Given the description of an element on the screen output the (x, y) to click on. 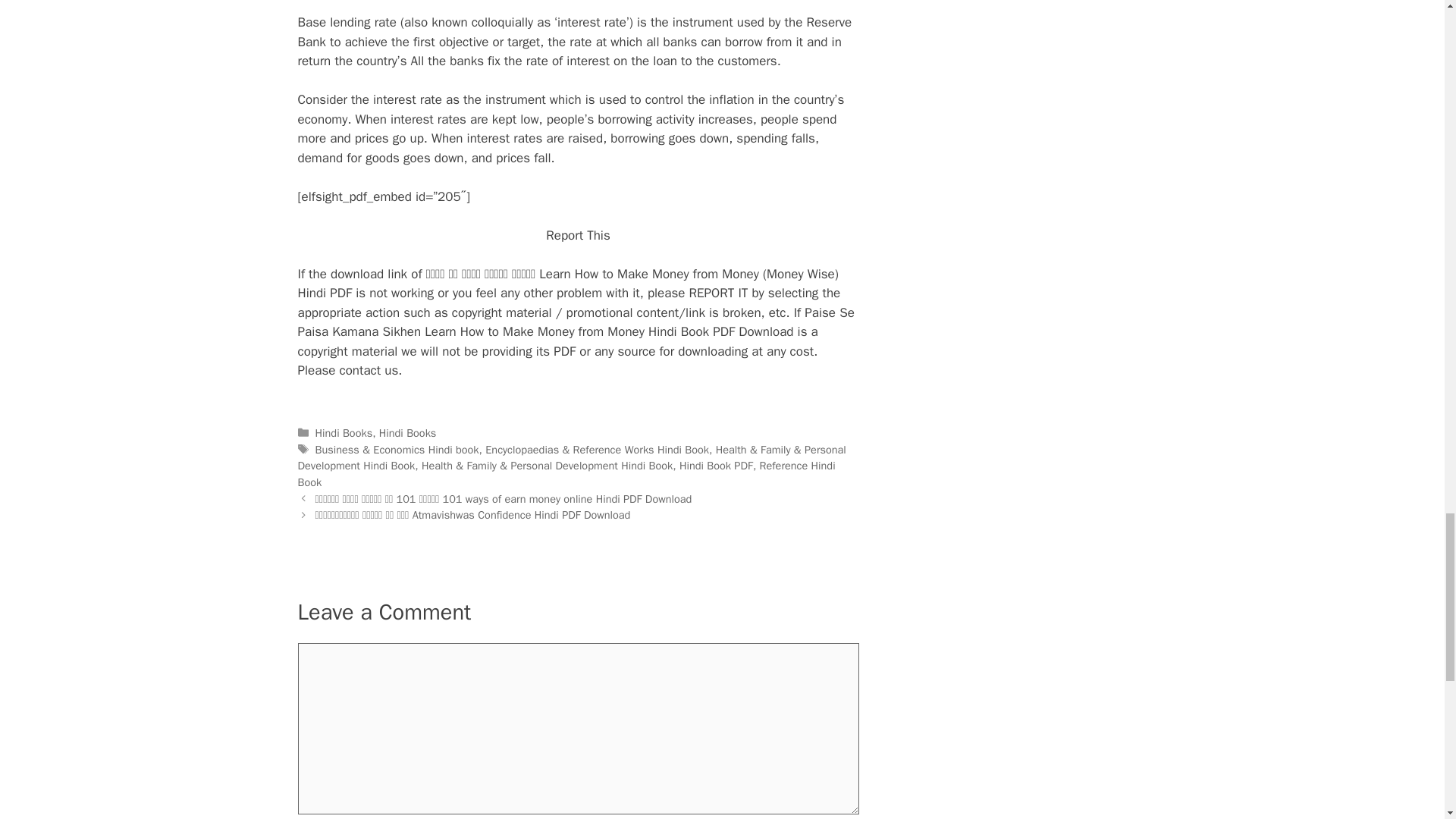
Hindi Books (407, 432)
Hindi Books (343, 432)
Reference Hindi Book (565, 473)
Hindi Book PDF (715, 465)
